Given the description of an element on the screen output the (x, y) to click on. 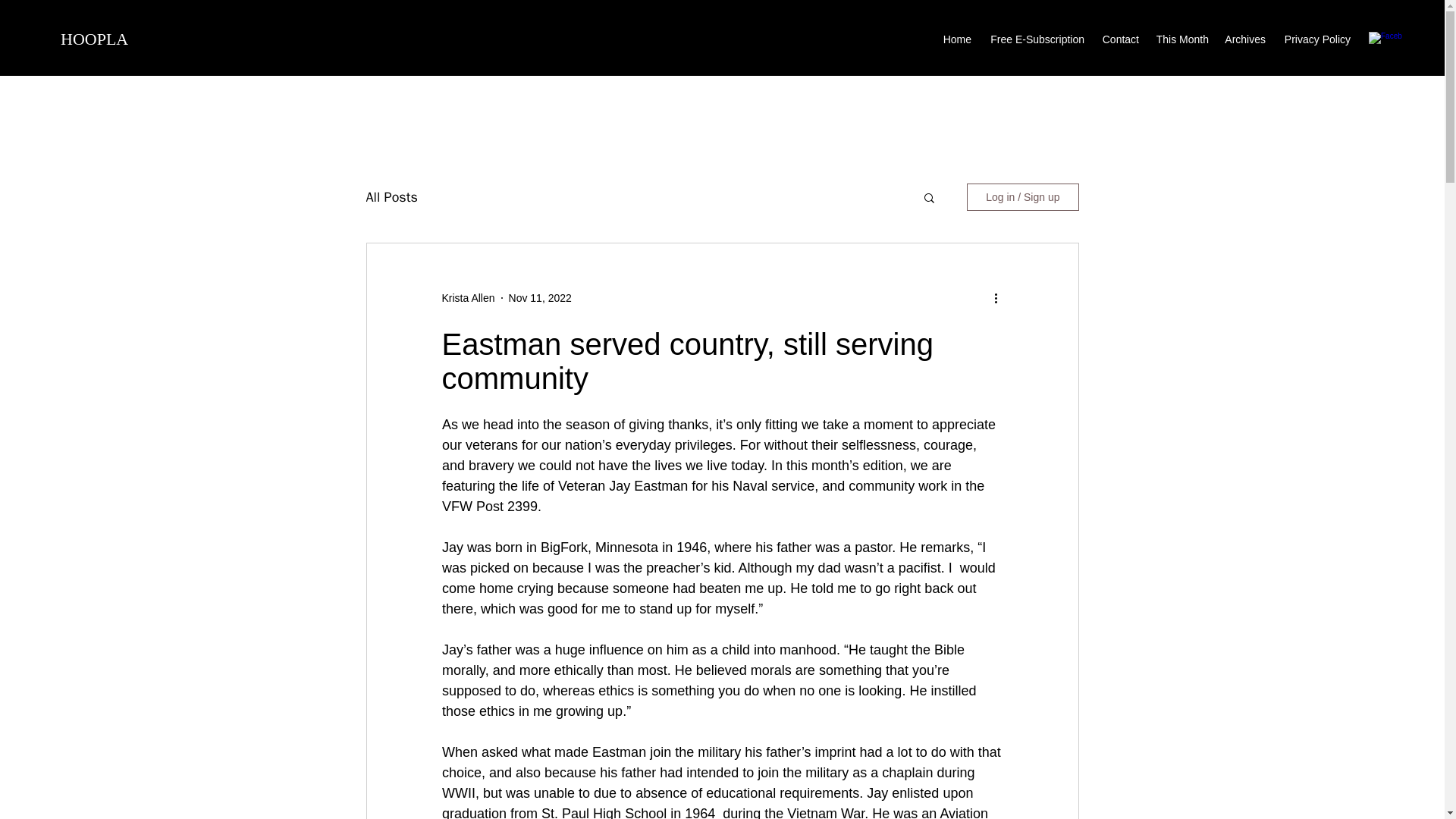
Home (956, 38)
Free E-Subscription (1035, 38)
Contact (1119, 38)
Archives (1243, 38)
Nov 11, 2022 (540, 297)
Krista Allen (468, 298)
All Posts (390, 197)
This Month (1181, 38)
Privacy Policy (1315, 38)
